Given the description of an element on the screen output the (x, y) to click on. 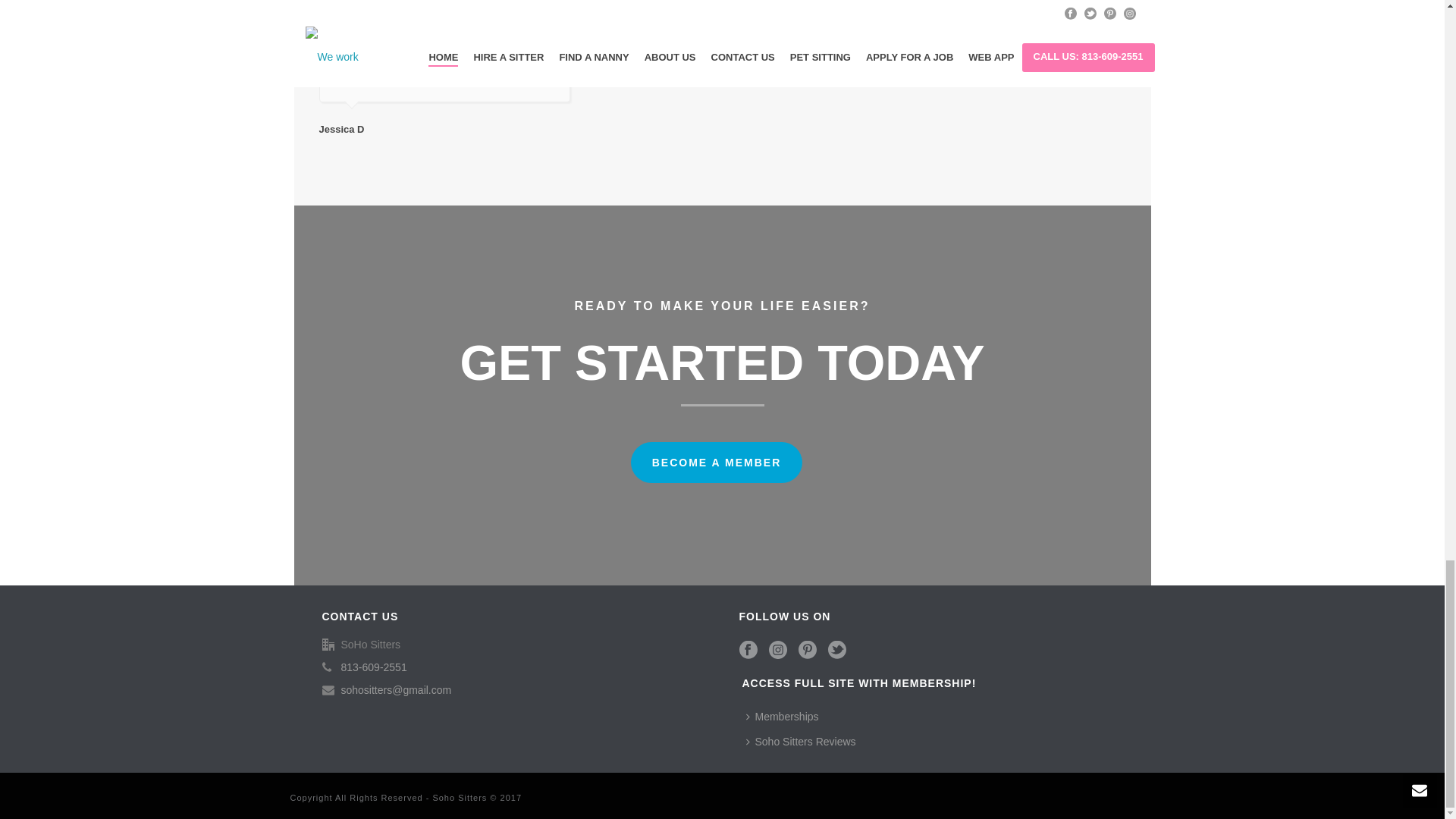
Follow Us On pinterest (806, 650)
BECOME A MEMBER (716, 462)
Follow Us On twitter (836, 650)
Follow Us On instagram (777, 650)
Follow Us On facebook (747, 650)
